Given the description of an element on the screen output the (x, y) to click on. 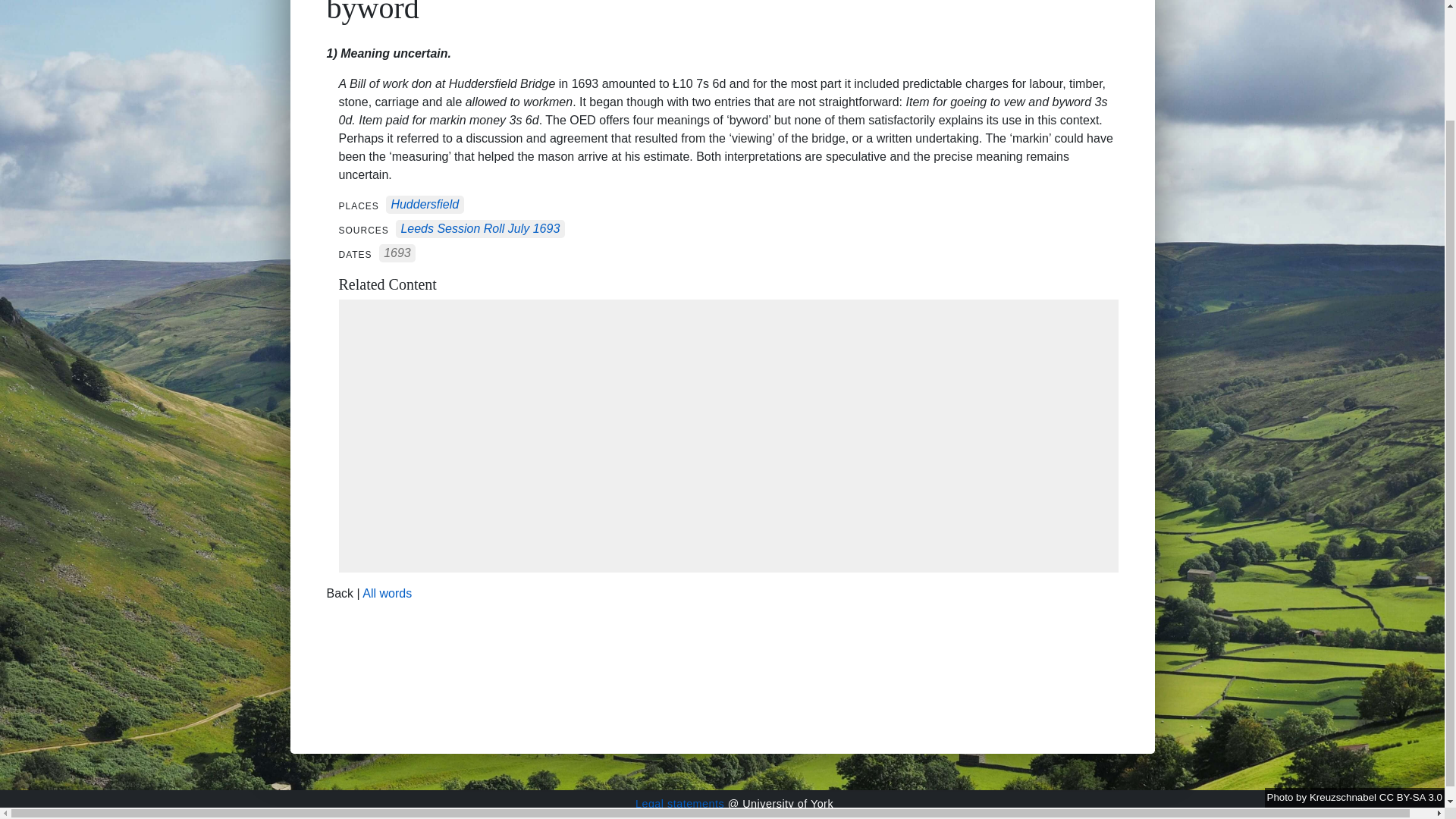
Photo (1281, 664)
All words (387, 593)
Leeds Session Roll July 1693 (479, 228)
CC BY-SA 3.0 (1410, 664)
Legal statements (678, 803)
Back (339, 593)
Kreuzschnabel (1343, 664)
Huddersfield (424, 205)
